Given the description of an element on the screen output the (x, y) to click on. 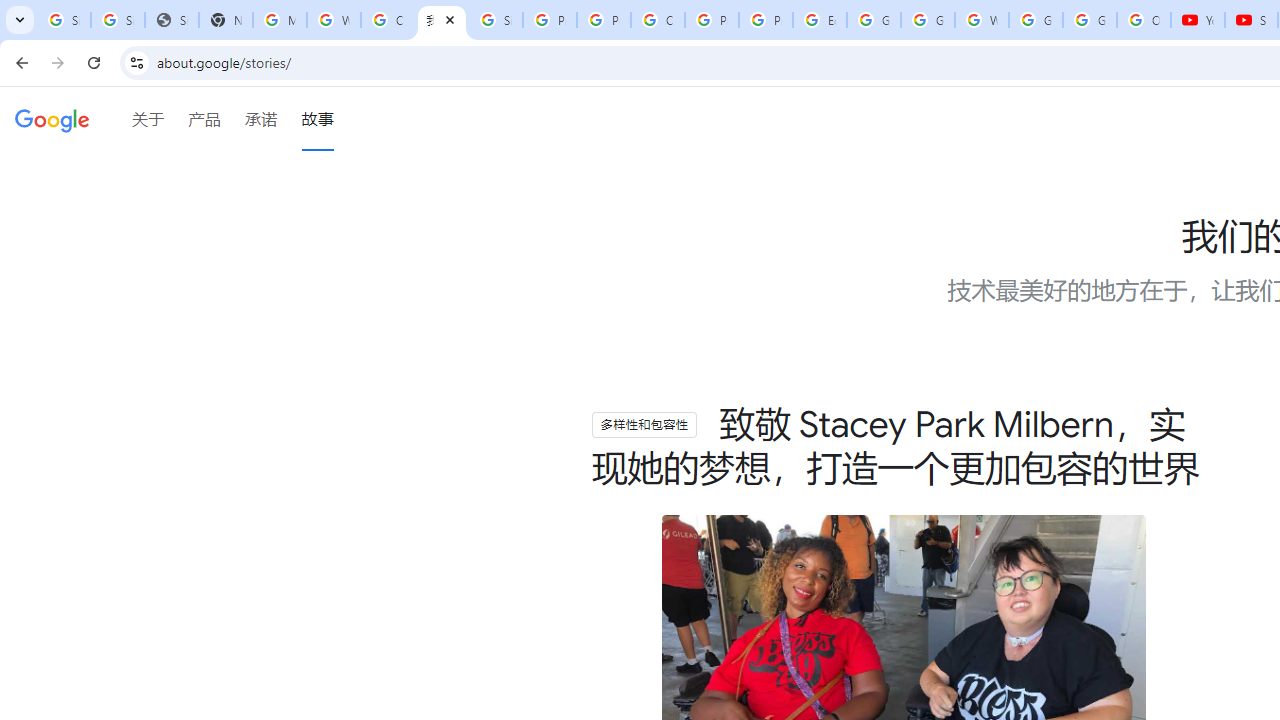
Create your Google Account (387, 20)
Google Slides: Sign-in (874, 20)
Welcome to My Activity (981, 20)
Sign in - Google Accounts (63, 20)
